Given the description of an element on the screen output the (x, y) to click on. 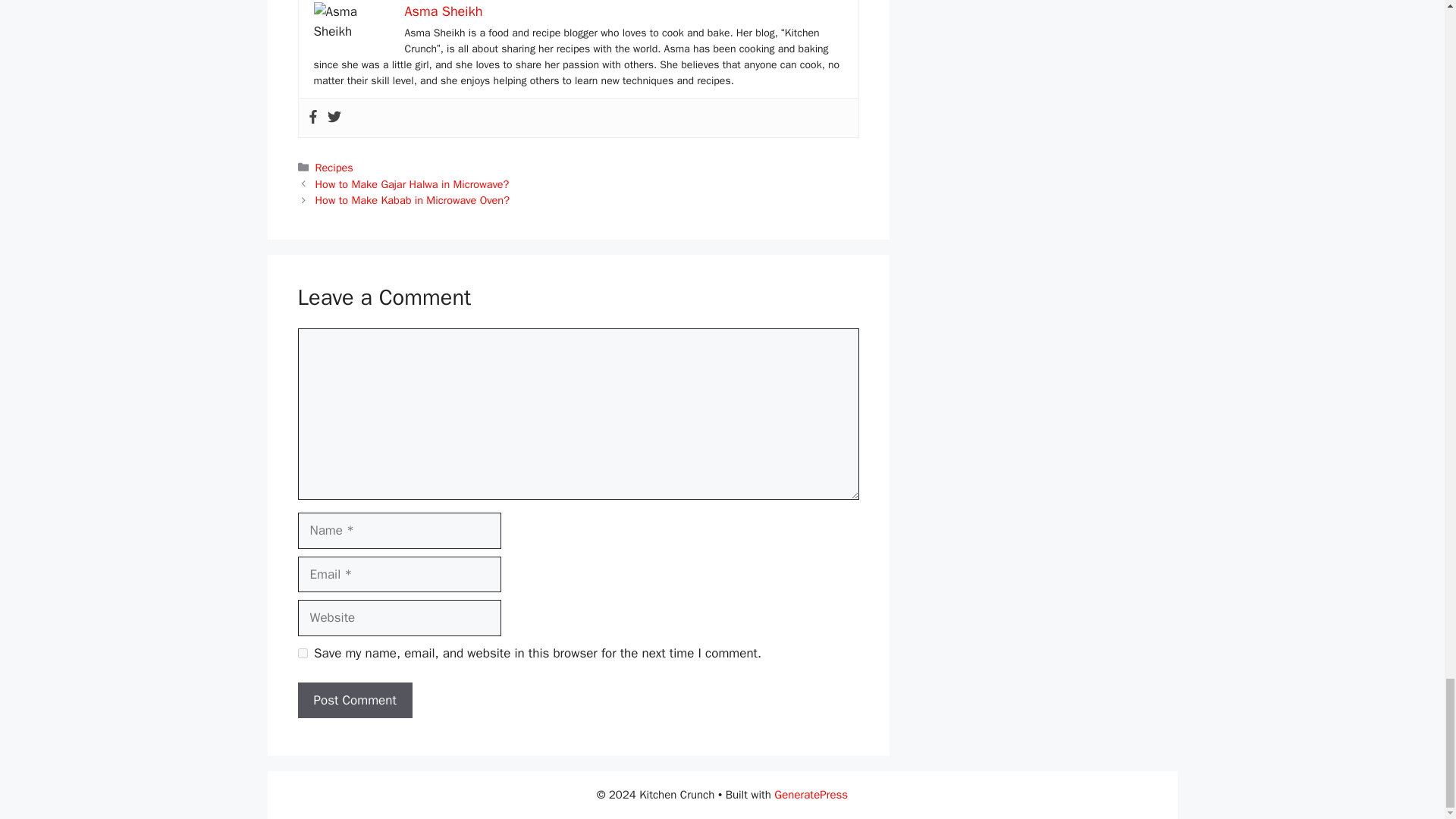
GeneratePress (810, 794)
How to Make Gajar Halwa in Microwave? (412, 183)
Recipes (334, 167)
Post Comment (354, 700)
How to Make Kabab in Microwave Oven? (412, 200)
yes (302, 653)
Asma Sheikh (443, 11)
Post Comment (354, 700)
